Given the description of an element on the screen output the (x, y) to click on. 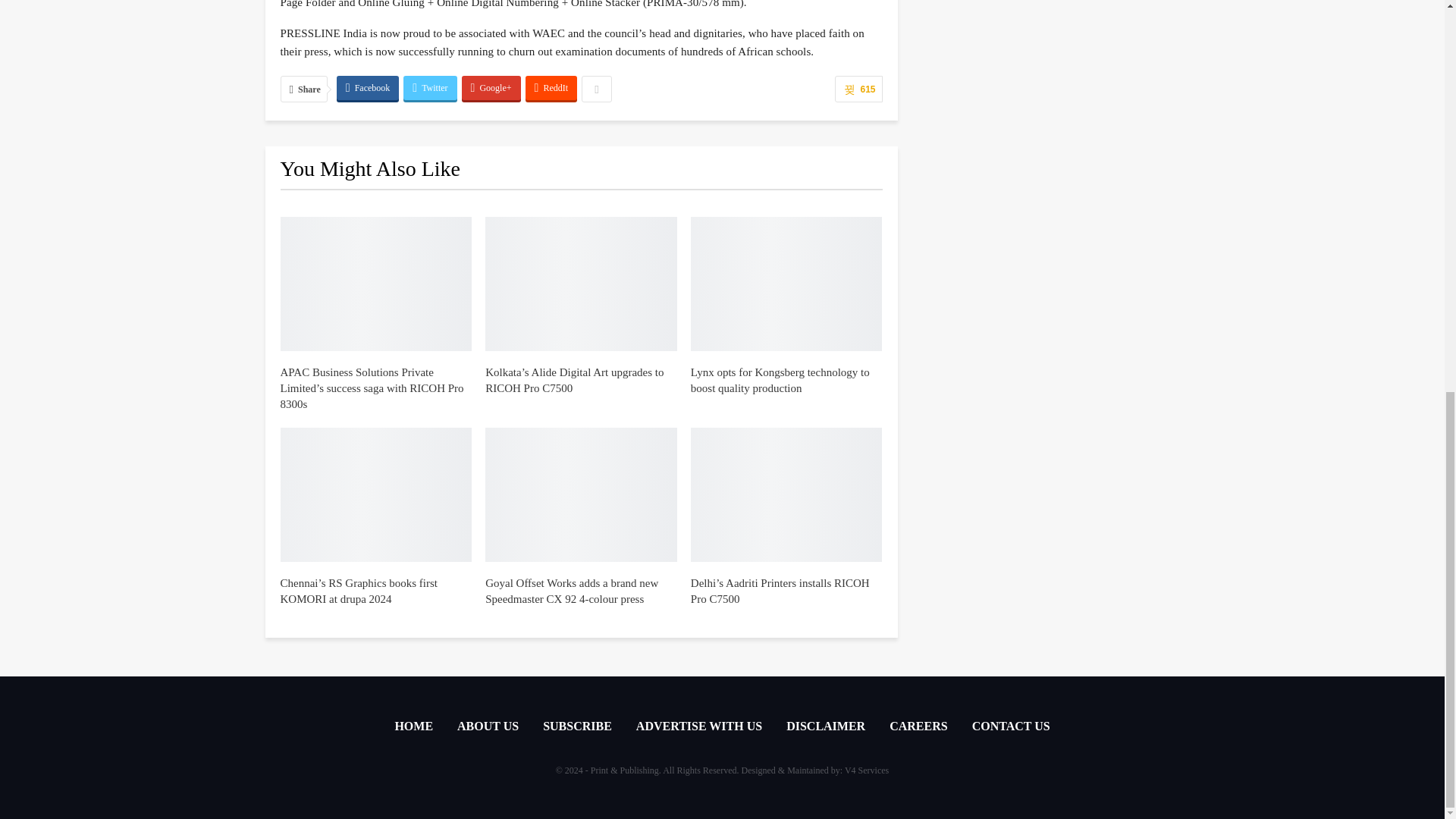
Facebook (367, 87)
ReddIt (551, 87)
Twitter (430, 87)
